Given the description of an element on the screen output the (x, y) to click on. 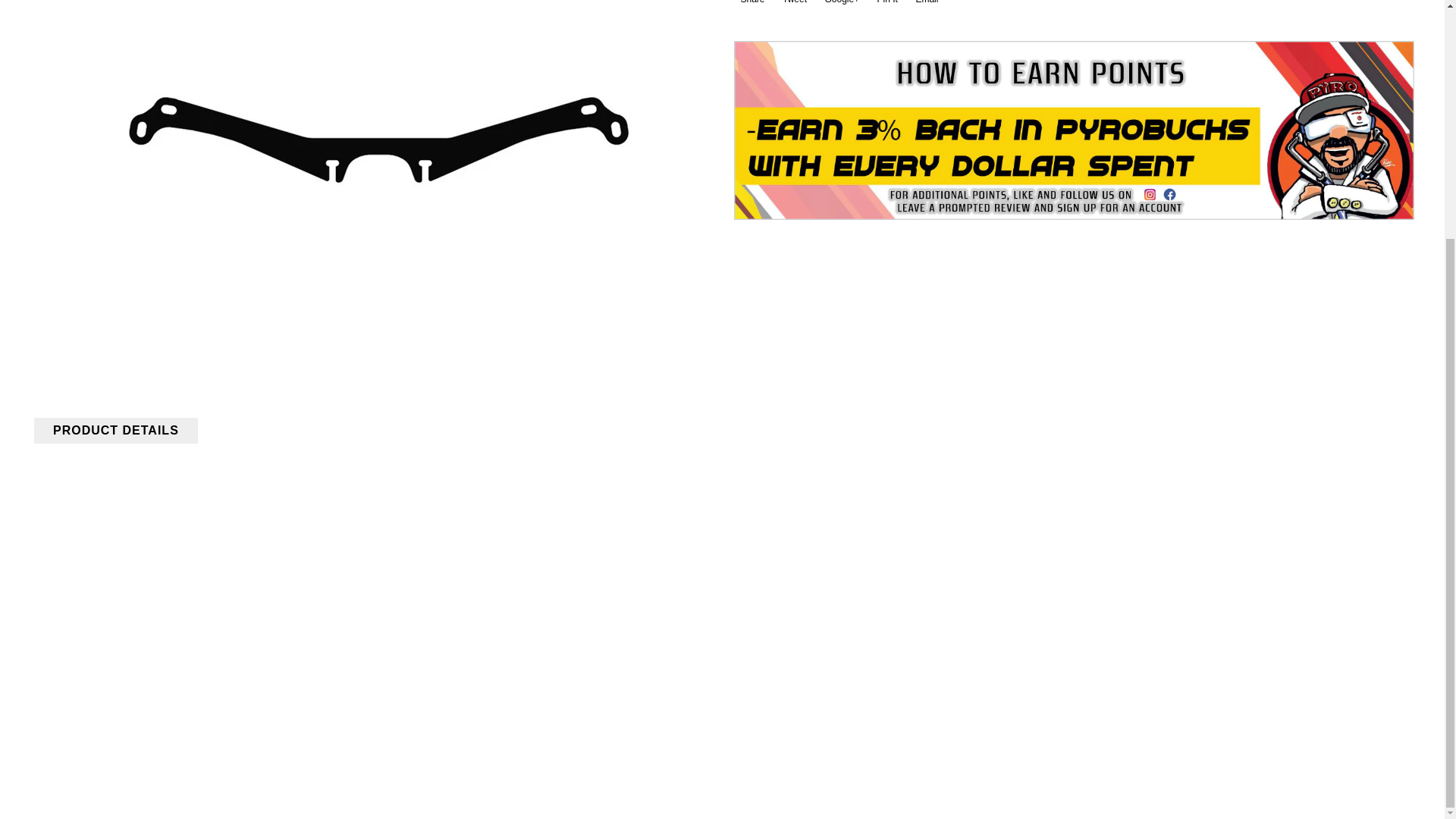
Share on Facebook (750, 7)
Pin on Pinterest (885, 7)
Tweet on Twitter (793, 7)
Share by Email (925, 7)
